Given the description of an element on the screen output the (x, y) to click on. 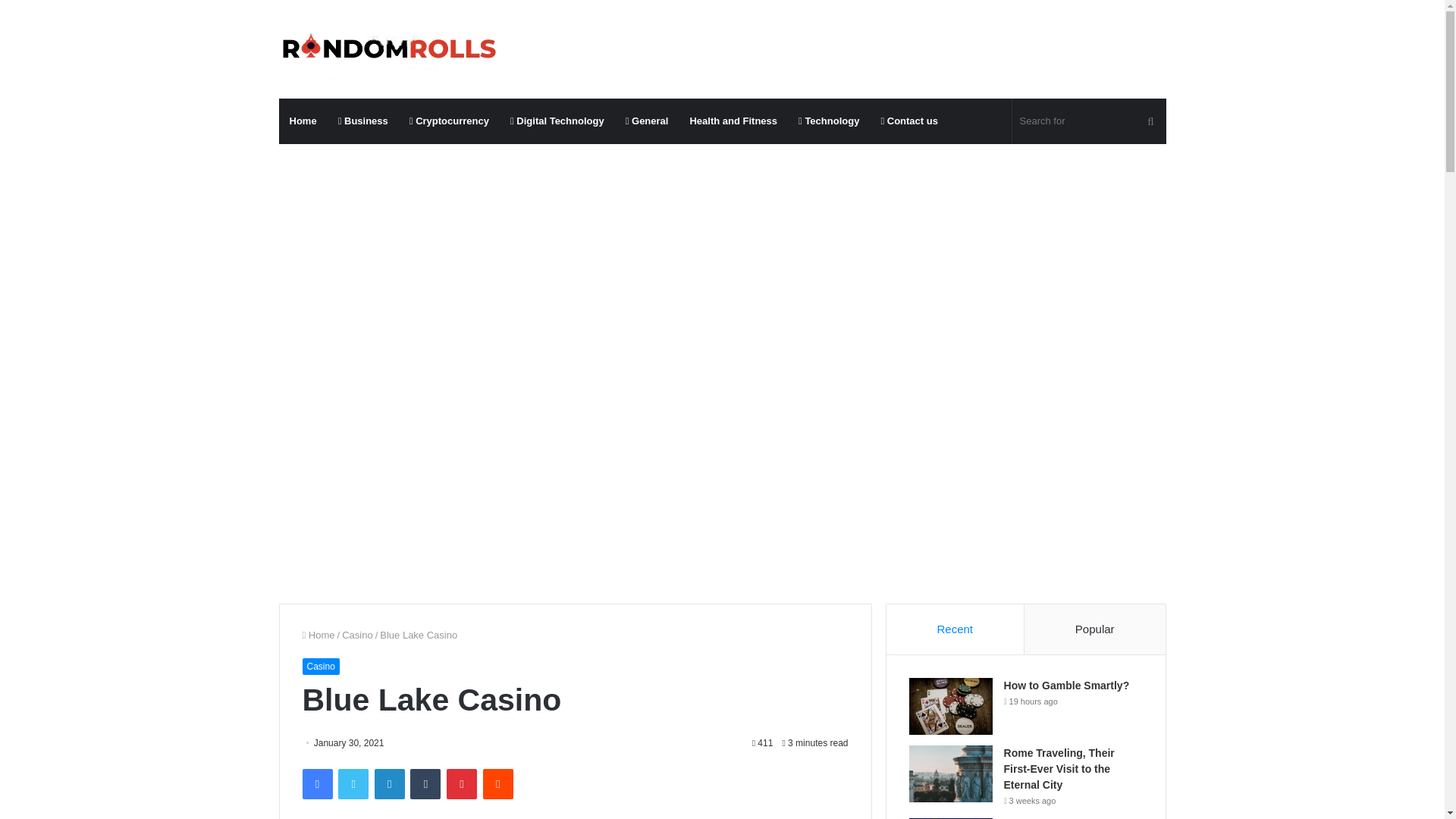
Business (362, 121)
Tumblr (425, 784)
Casino (357, 634)
Pinterest (461, 784)
Technology (828, 121)
LinkedIn (389, 784)
Twitter (352, 784)
Reddit (498, 784)
Facebook (316, 784)
Health and Fitness (732, 121)
Home (303, 121)
General (646, 121)
Casino (320, 666)
Facebook (316, 784)
